Given the description of an element on the screen output the (x, y) to click on. 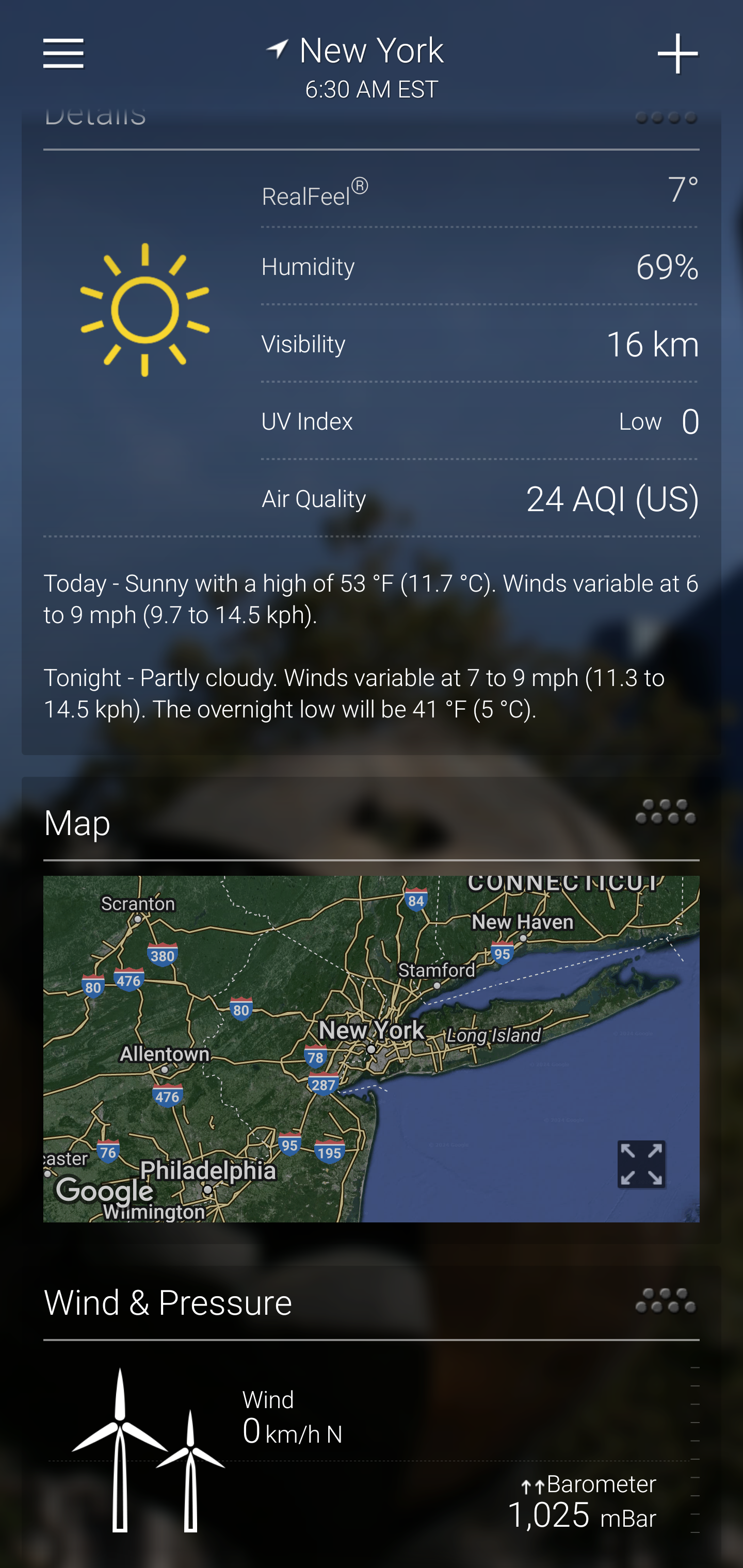
Sidebar (64, 54)
Add City (678, 53)
Google Map (371, 1049)
